Given the description of an element on the screen output the (x, y) to click on. 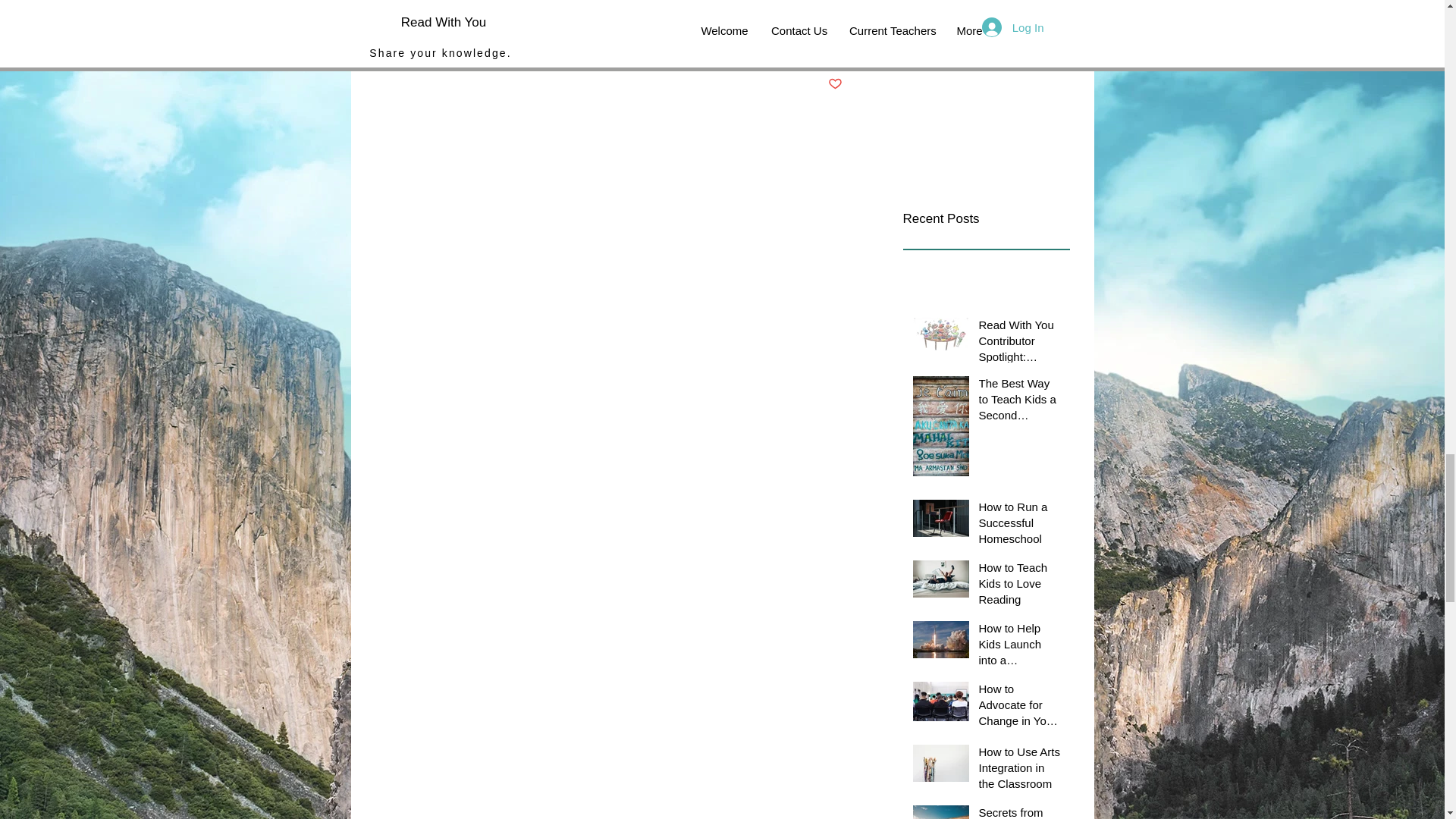
The Best Way to Teach Kids a Second Language (1018, 402)
Post not marked as liked (835, 84)
How to Help Kids Launch into a Successful Adulthood (1018, 646)
Secrets from the Past that will Enhance Education (1018, 811)
How to Use Arts Integration in the Classroom (1018, 770)
How to Advocate for Change in Your School (1018, 707)
How to Run a Successful Homeschool (1018, 525)
How to Teach Kids to Love Reading (1018, 586)
Read With You Contributor Spotlight: Samuel Nelson (1018, 343)
